Given the description of an element on the screen output the (x, y) to click on. 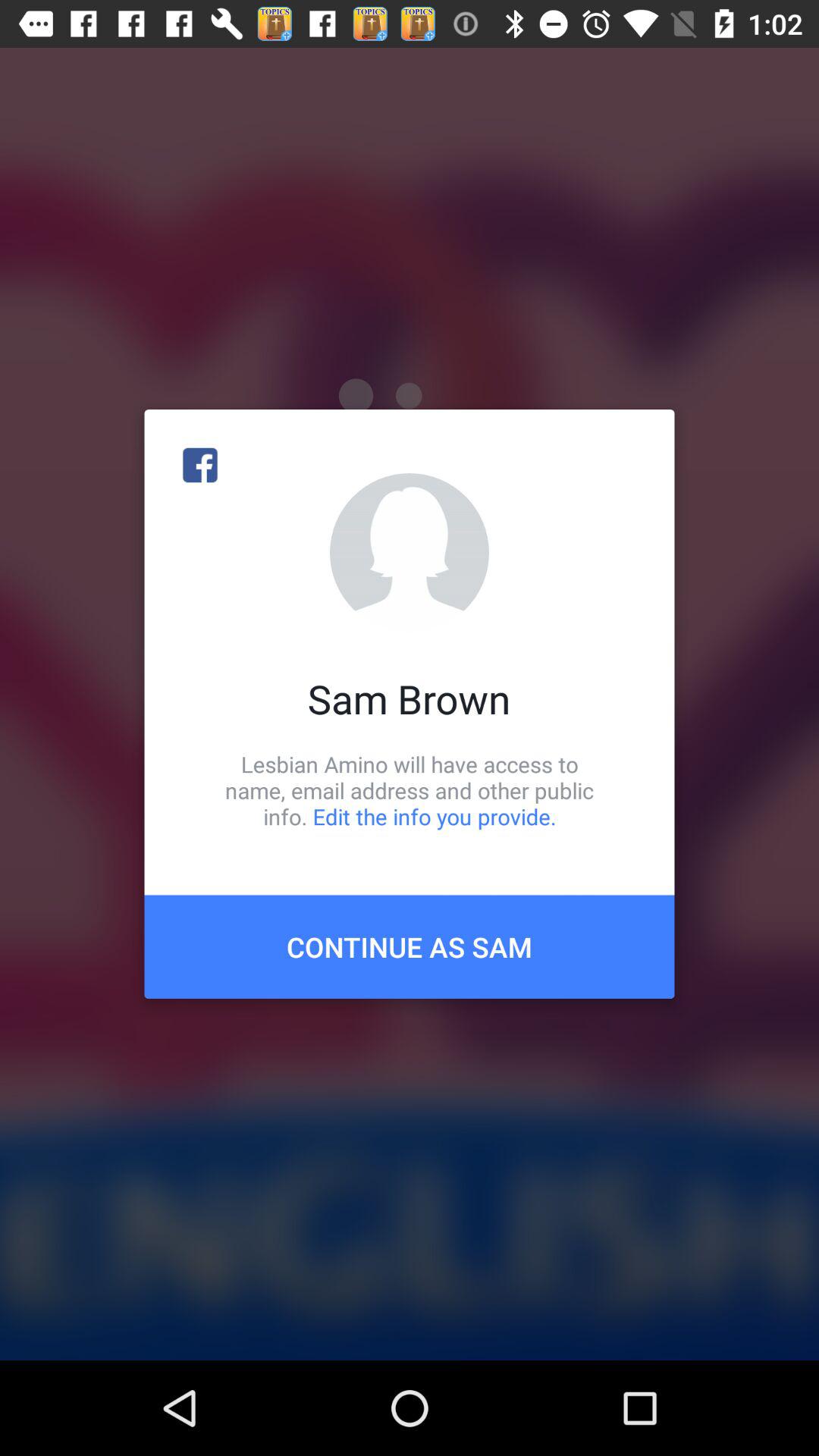
choose the item above continue as sam icon (409, 790)
